Given the description of an element on the screen output the (x, y) to click on. 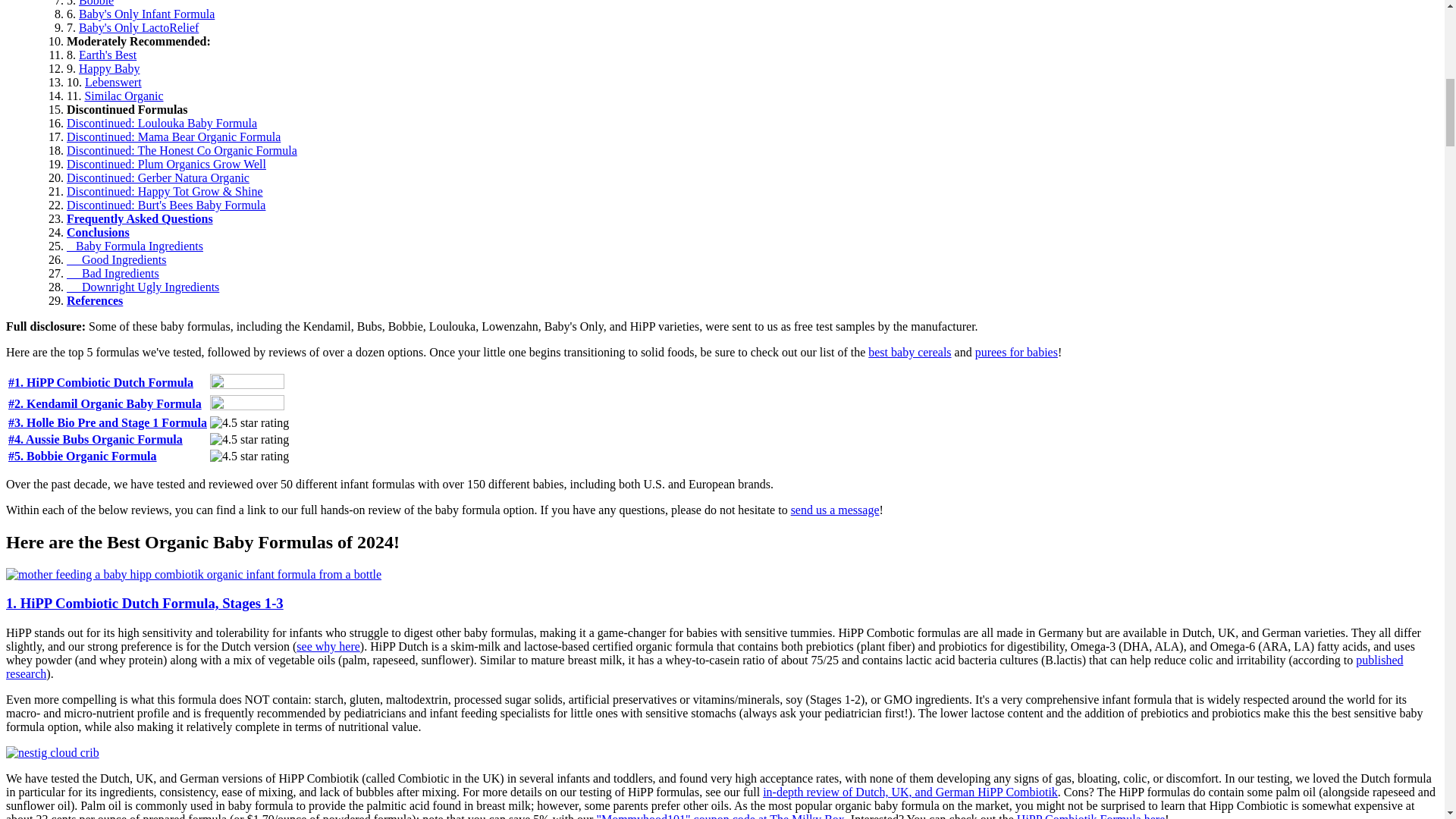
Discontinued: Mama Bear Organic Formula (173, 136)
Discontinued: Plum Organics Grow Well (166, 164)
     Good Ingredients (116, 259)
Bobbie (95, 3)
Conclusions (97, 232)
Discontinued: Burt's Bees Baby Formula (165, 205)
Earth's Best (107, 54)
Similac Organic (123, 95)
Lebenswert (112, 82)
Discontinued: The Honest Co Organic Formula (181, 150)
Baby's Only LactoRelief (138, 27)
   Baby Formula Ingredients (134, 245)
Frequently Asked Questions (139, 218)
Happy Baby (108, 68)
Baby's Only Infant Formula (146, 13)
